Given the description of an element on the screen output the (x, y) to click on. 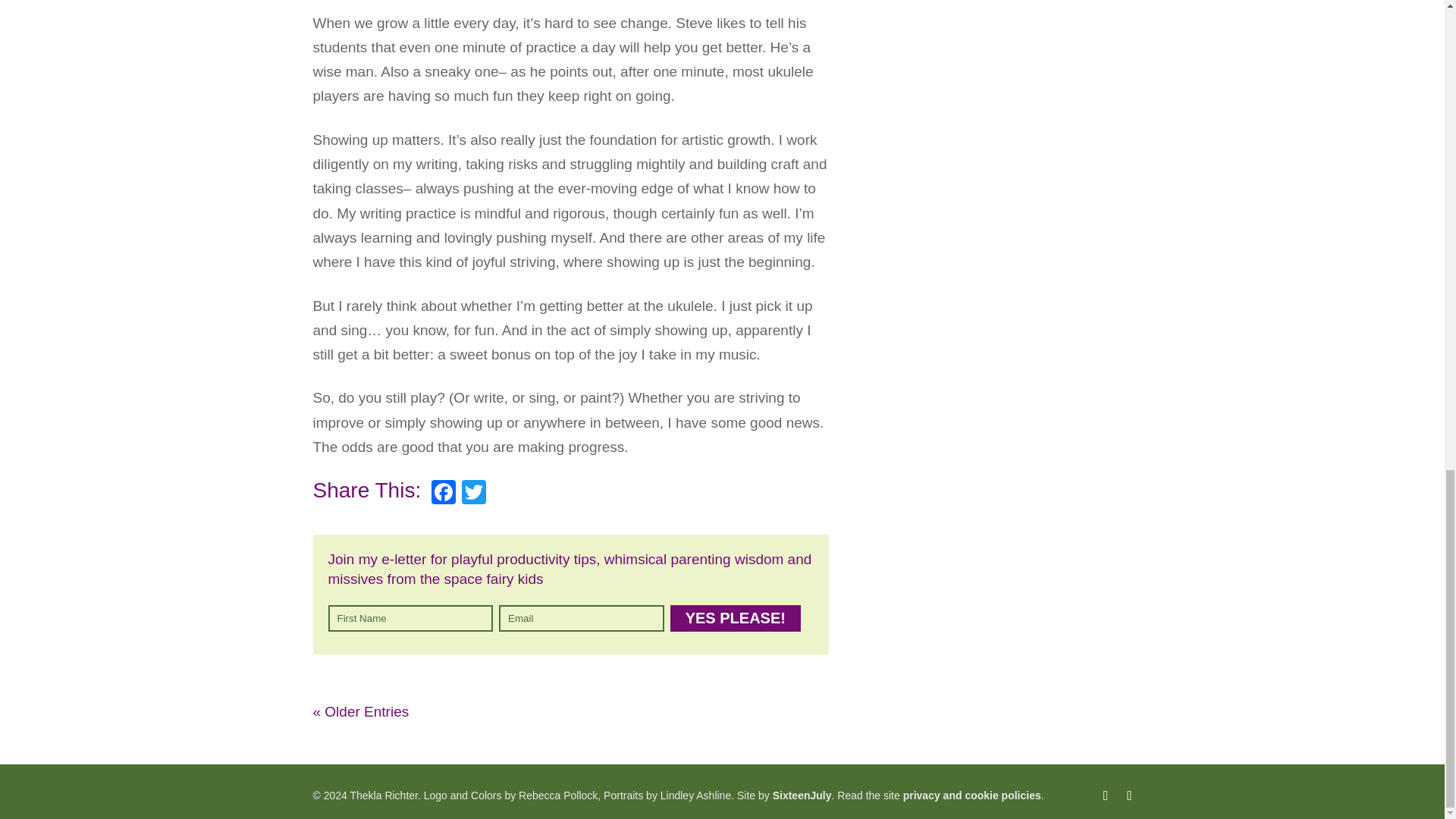
Facebook (443, 493)
Twitter (473, 493)
SixteenJuly (802, 795)
privacy and cookie policies (971, 795)
Facebook (443, 493)
Email (581, 618)
Twitter (473, 493)
yes please! (734, 618)
yes please! (734, 618)
First Name (410, 618)
